Given the description of an element on the screen output the (x, y) to click on. 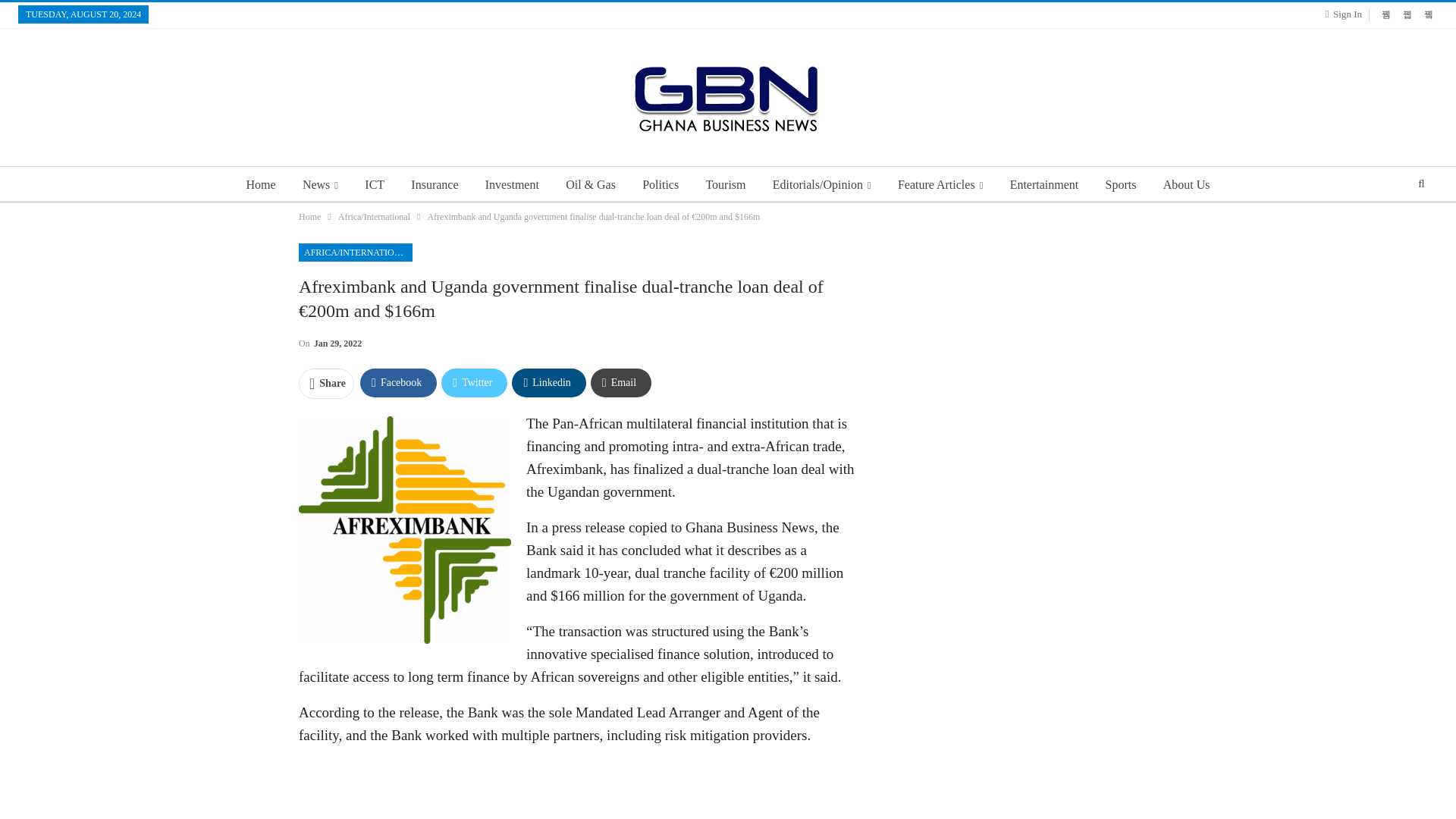
Politics (660, 185)
Twitter (473, 382)
Email (620, 382)
Entertainment (1044, 185)
Investment (512, 185)
Feature Articles (940, 185)
Linkedin (548, 382)
Sports (1120, 185)
Sign In (1346, 13)
Home (261, 185)
